Given the description of an element on the screen output the (x, y) to click on. 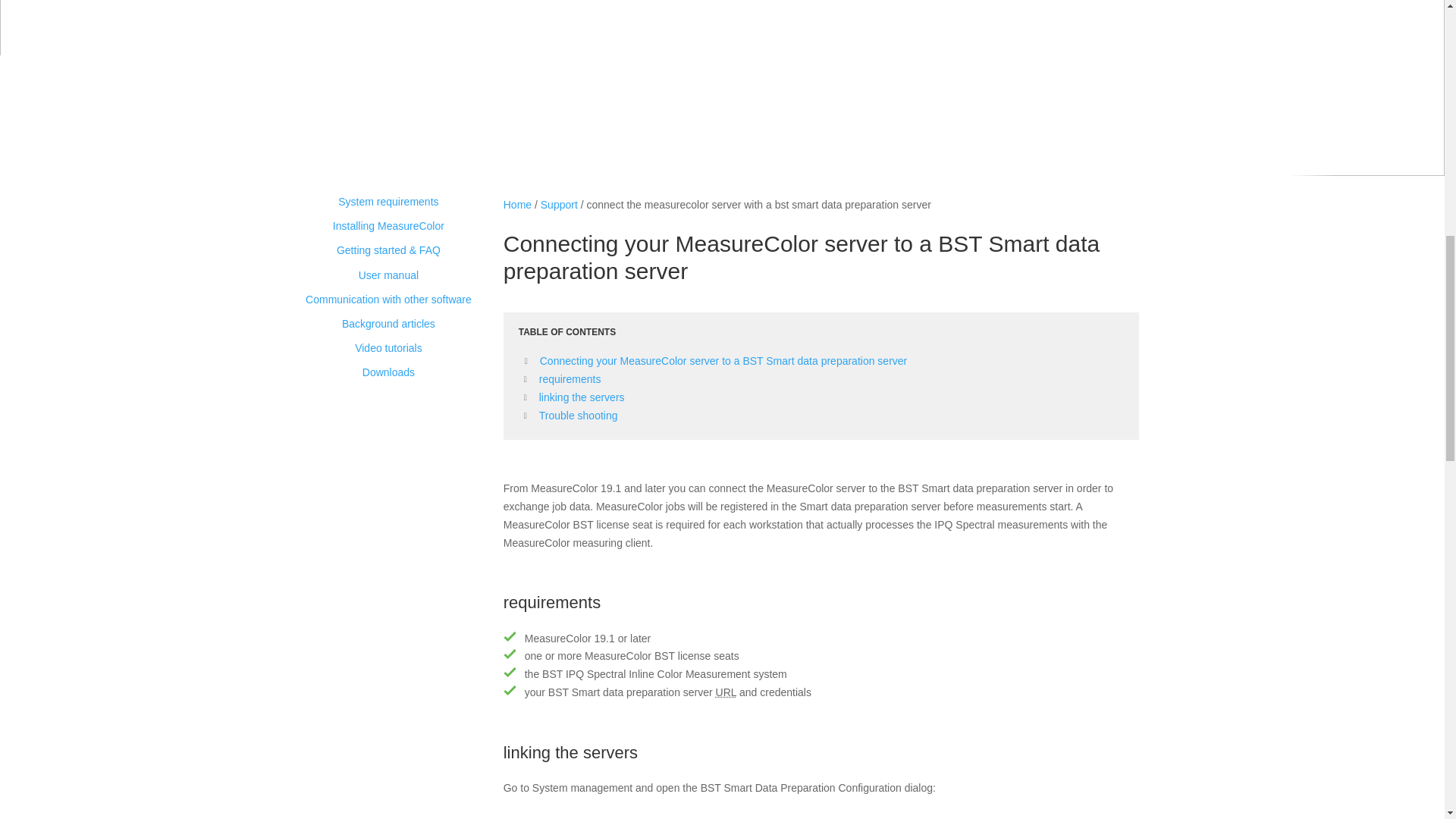
System requirements (387, 201)
Uniform Resource Locator (726, 692)
Home (517, 204)
downloads (388, 372)
Downloads (388, 372)
Background articles (388, 323)
Video tutorials (388, 347)
User manual (388, 275)
Installing MeasureColor (388, 225)
Table of Contents (821, 331)
